Given the description of an element on the screen output the (x, y) to click on. 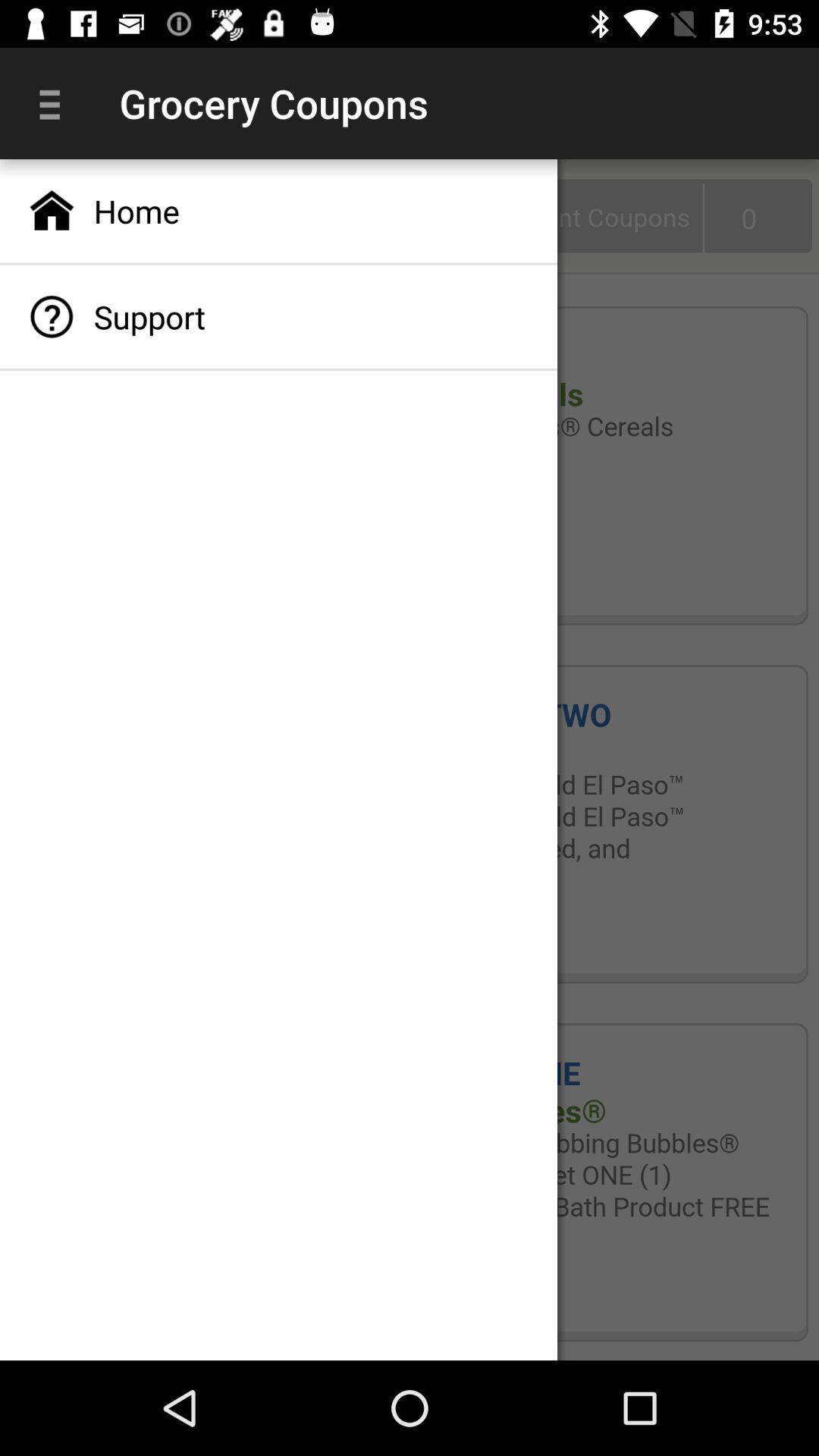
press home app (278, 210)
